Given the description of an element on the screen output the (x, y) to click on. 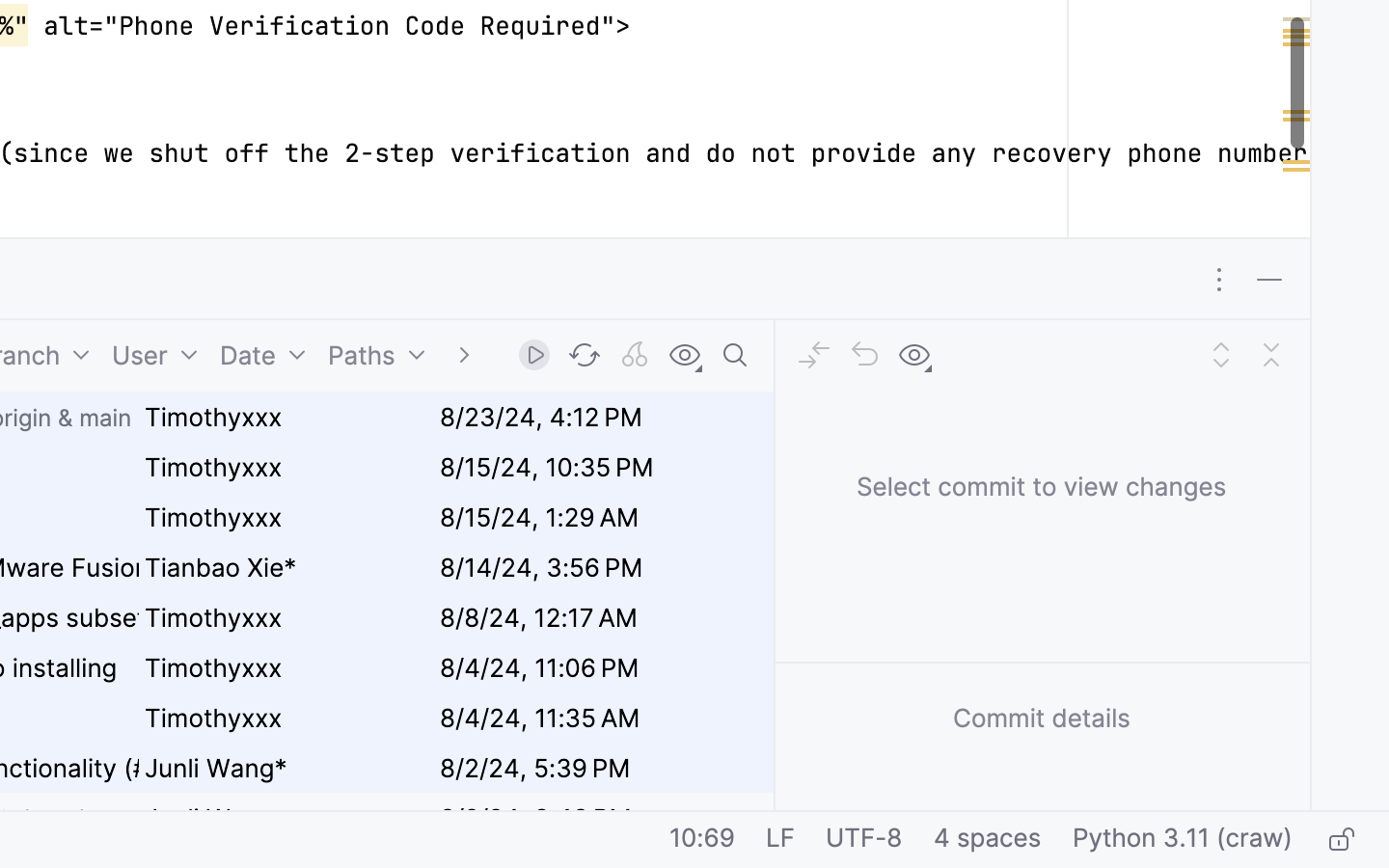
UTF-8 Element type: AXStaticText (864, 840)
Python 3.11 (craw) Element type: AXStaticText (1182, 840)
